Given the description of an element on the screen output the (x, y) to click on. 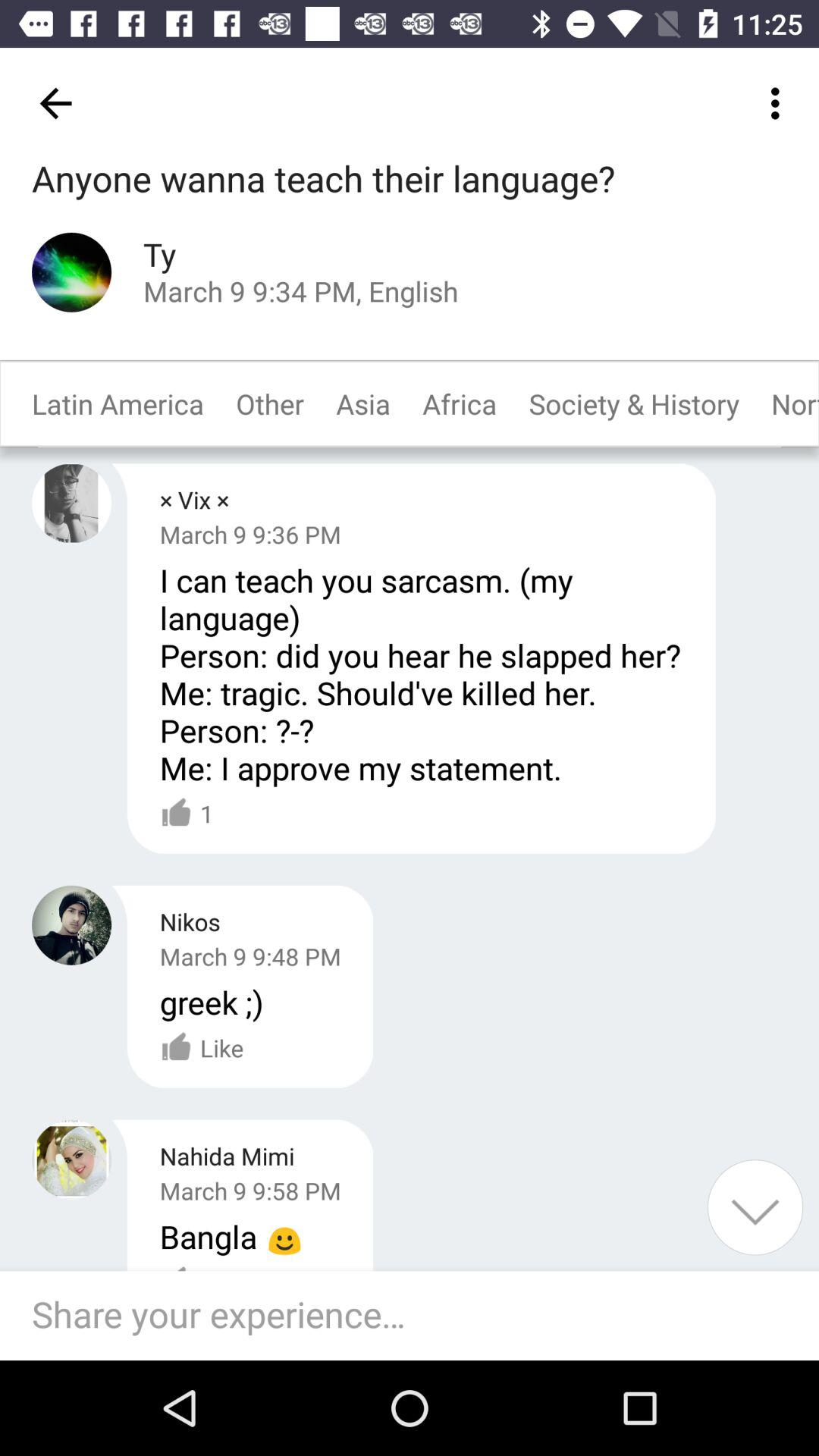
select the item next to the anyone wanna teach item (779, 103)
